Given the description of an element on the screen output the (x, y) to click on. 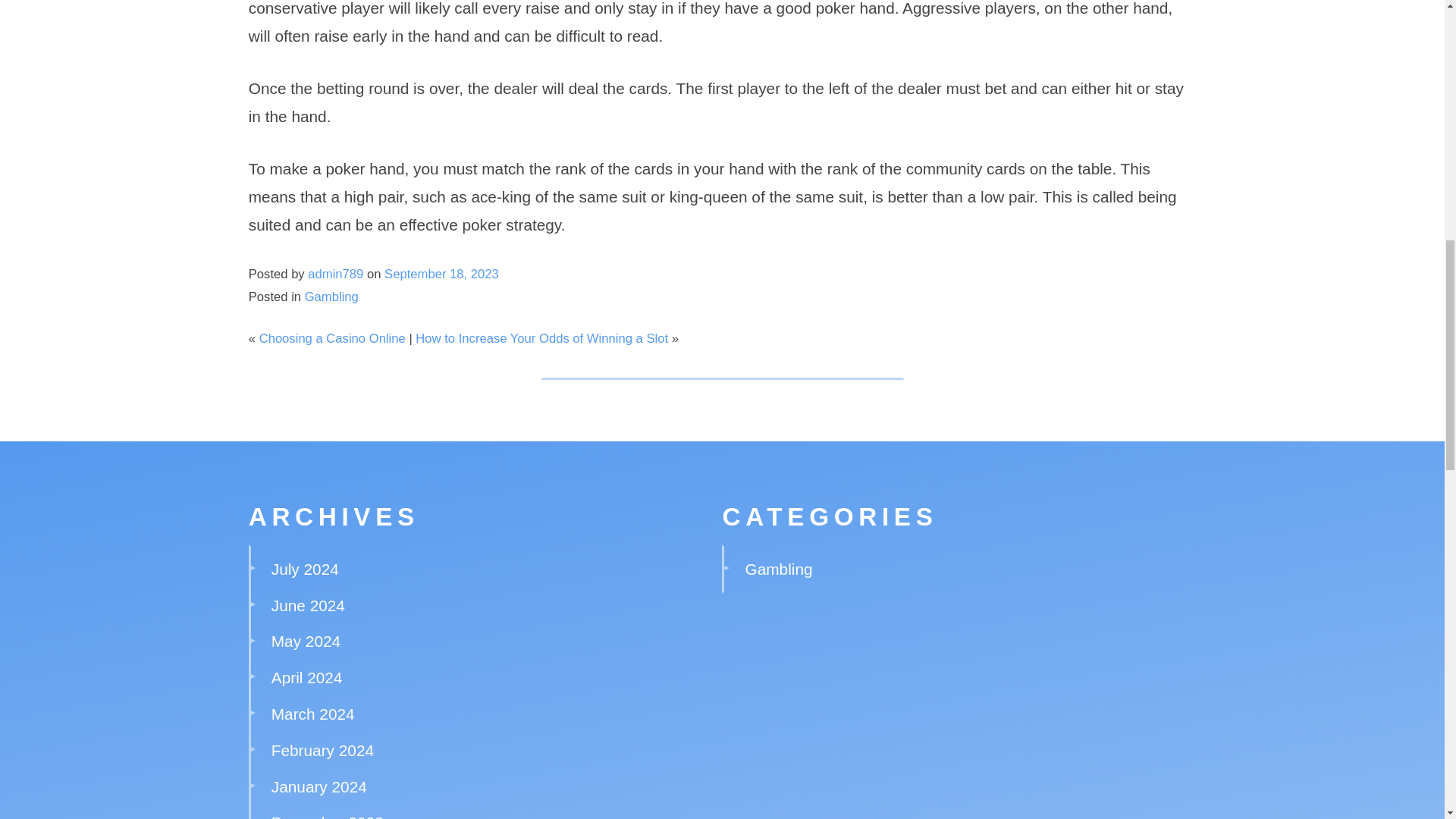
admin789 (334, 273)
March 2024 (312, 713)
May 2024 (305, 641)
December 2023 (327, 816)
Choosing a Casino Online (332, 338)
February 2024 (322, 750)
Gambling (331, 296)
January 2024 (318, 786)
April 2024 (306, 677)
September 18, 2023 (441, 273)
June 2024 (307, 604)
July 2024 (304, 569)
How to Increase Your Odds of Winning a Slot (541, 338)
Gambling (778, 569)
